Given the description of an element on the screen output the (x, y) to click on. 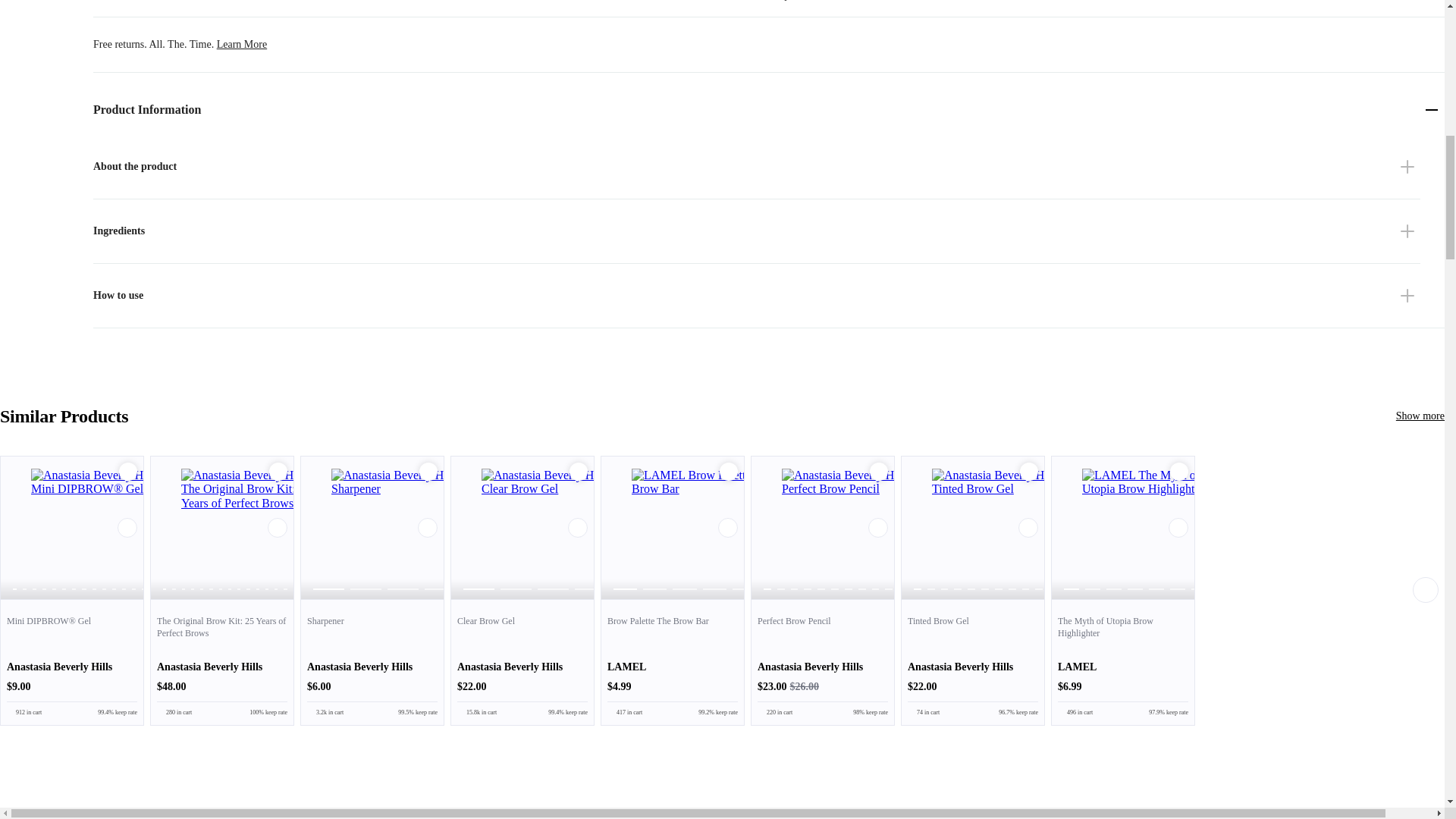
Anastasia Beverly Hills Sharpener (372, 539)
The Original Brow Kit: 25 Years of Perfect Brows (222, 660)
Add to Cart (127, 471)
Sharpener (372, 660)
Add to Cart (277, 471)
Learn More (241, 43)
Anastasia Beverly Hills Clear Brow Gel (522, 539)
Go to show more (1420, 416)
Add to Cart (427, 471)
Add to Cart (127, 471)
